Given the description of an element on the screen output the (x, y) to click on. 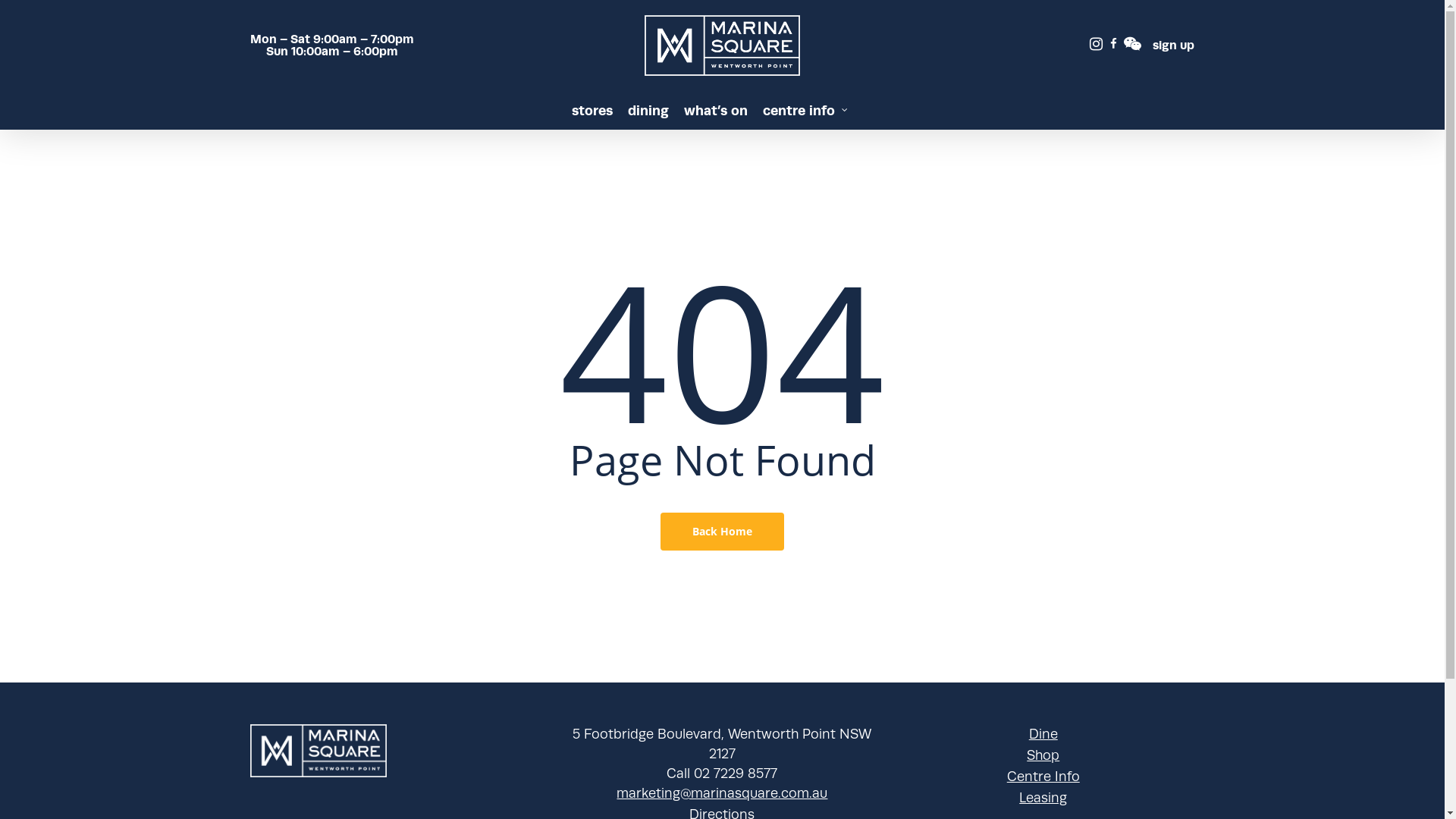
Dine Element type: text (1043, 734)
stores Element type: text (592, 110)
sign up Element type: text (1168, 45)
Leasing Element type: text (1042, 798)
Back Home Element type: text (722, 531)
marketing@marinasquare.com.au Element type: text (721, 793)
Centre Info Element type: text (1043, 776)
centre info Element type: text (806, 110)
dining Element type: text (648, 110)
Shop Element type: text (1042, 755)
